Given the description of an element on the screen output the (x, y) to click on. 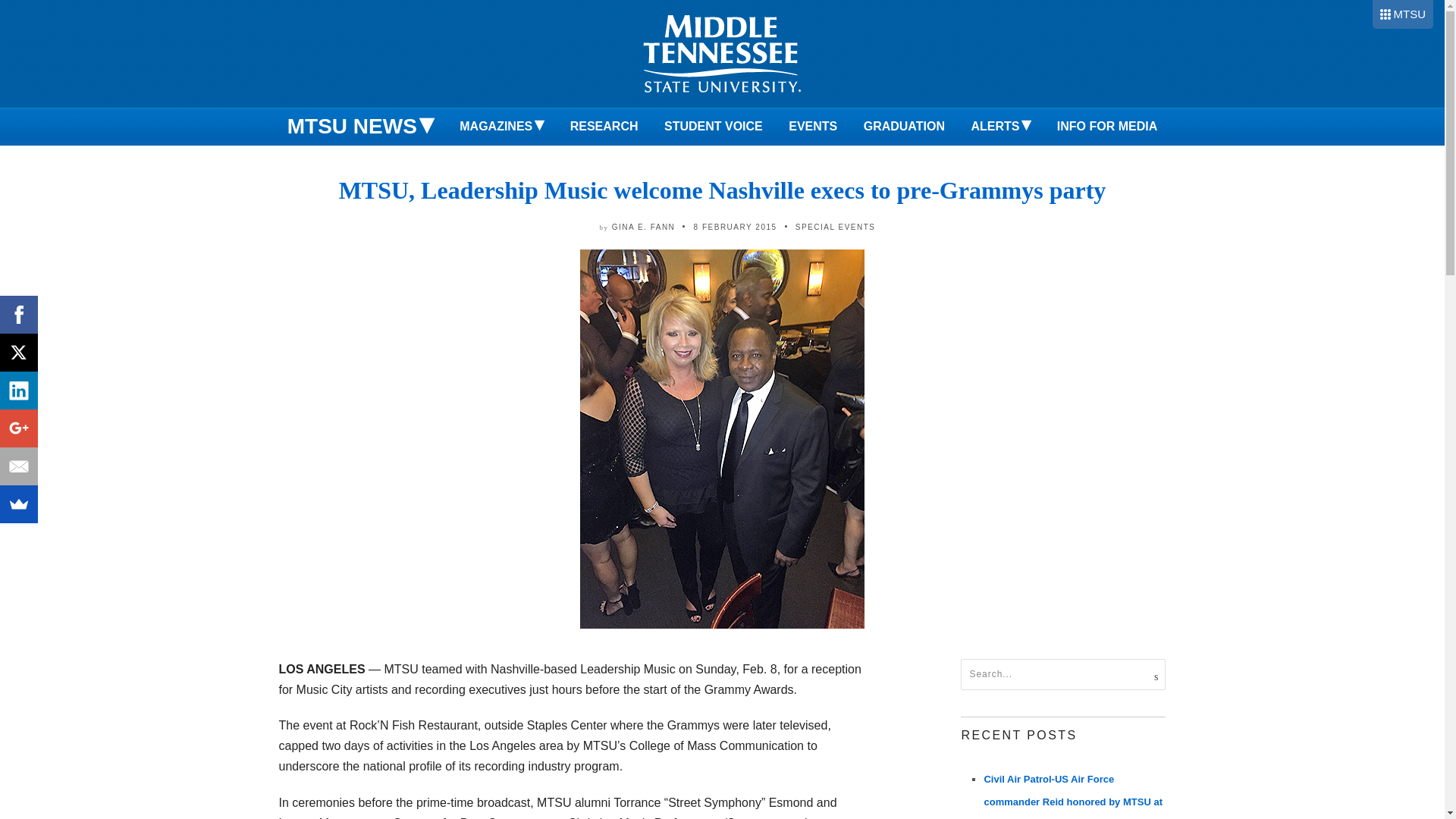
February 8, 2015 8:33 (735, 226)
Posts by Gina E. Fann (643, 226)
